Given the description of an element on the screen output the (x, y) to click on. 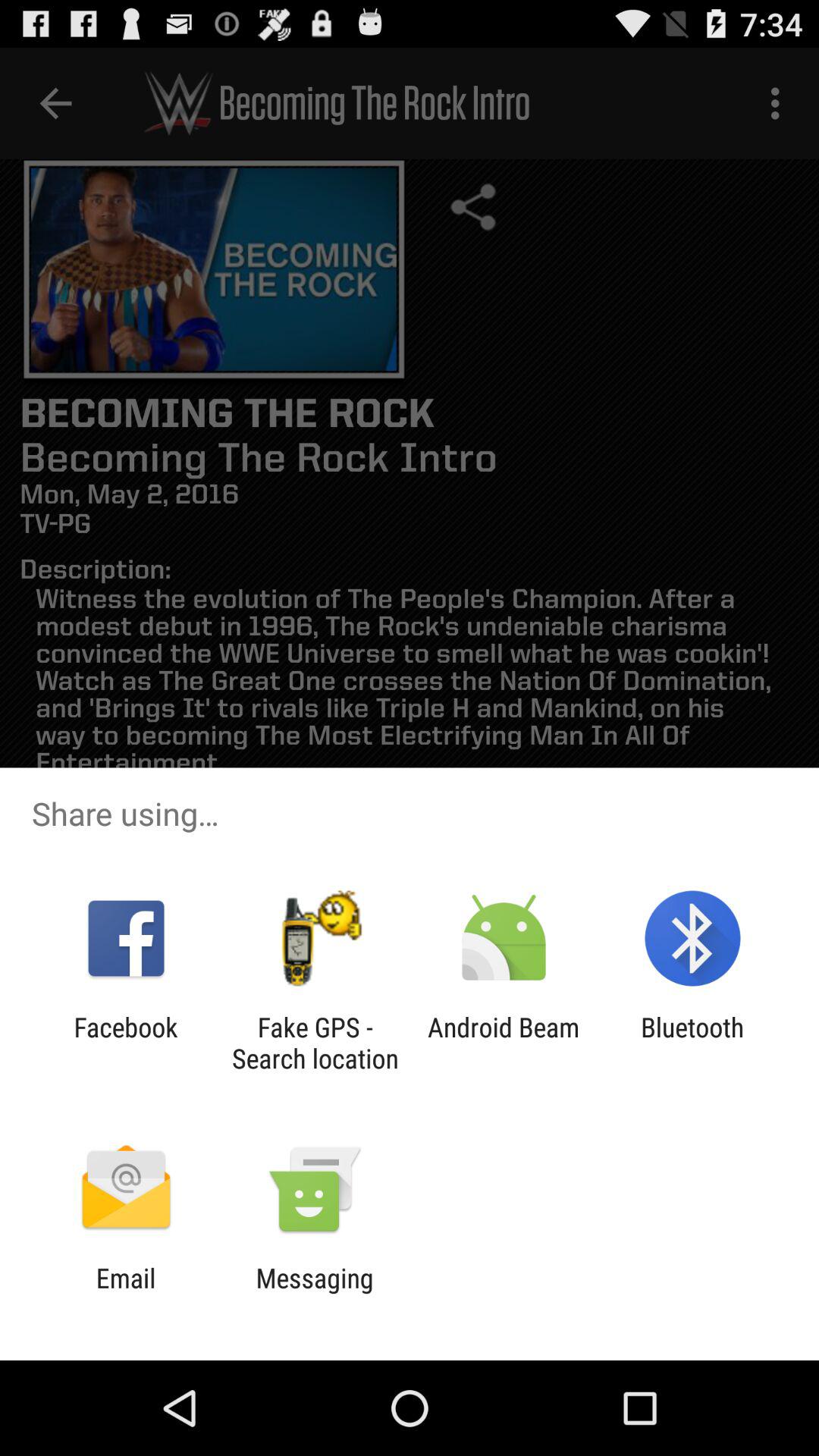
tap the icon to the left of the android beam (314, 1042)
